Given the description of an element on the screen output the (x, y) to click on. 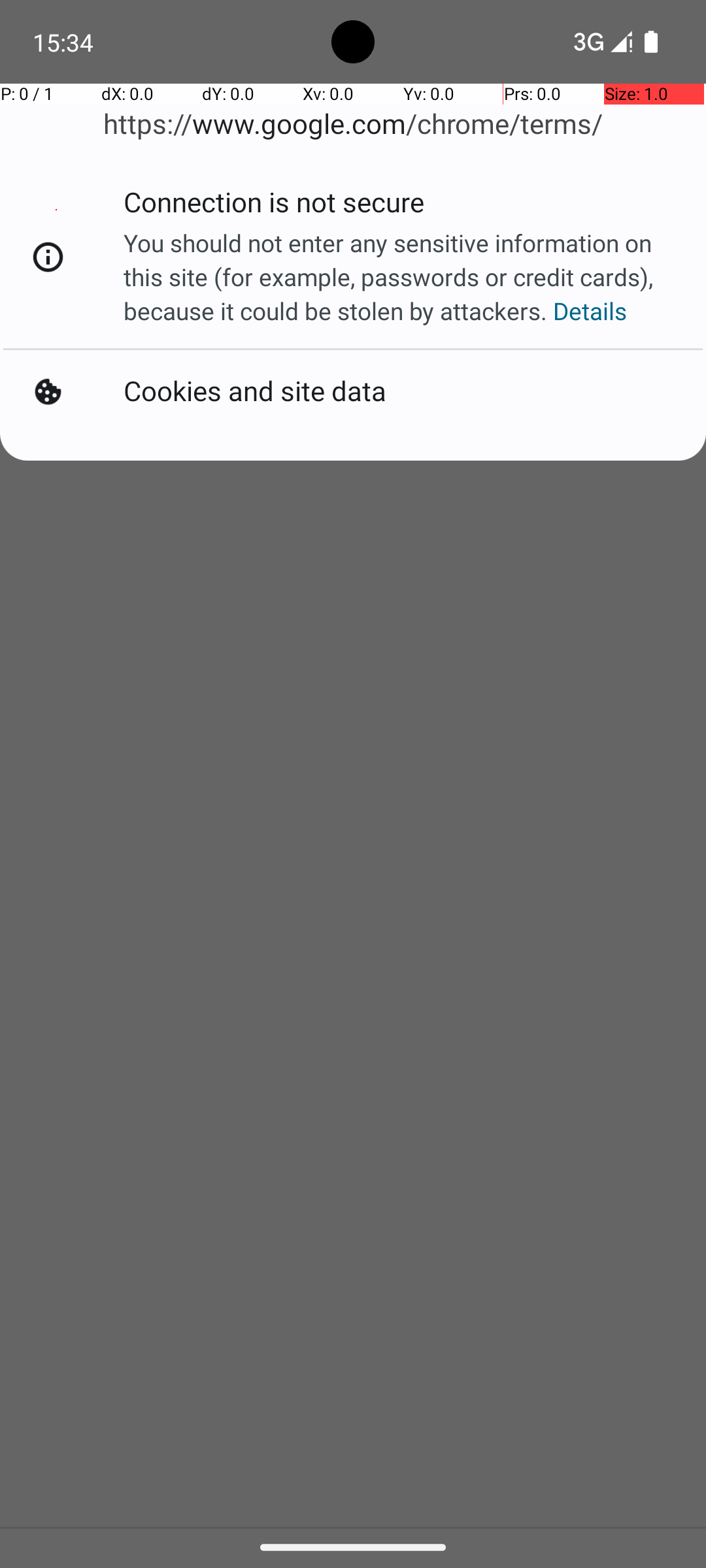
https://www.google.com/chrome/terms/ Element type: android.widget.TextView (352, 124)
Connection is not secure Element type: android.widget.TextView (276, 209)
You should not enter any sensitive information on this site (for example, passwords or credit cards), because it could be stolen by attackers. Details Element type: android.widget.TextView (399, 277)
Cookies and site data Element type: android.widget.TextView (257, 388)
